Given the description of an element on the screen output the (x, y) to click on. 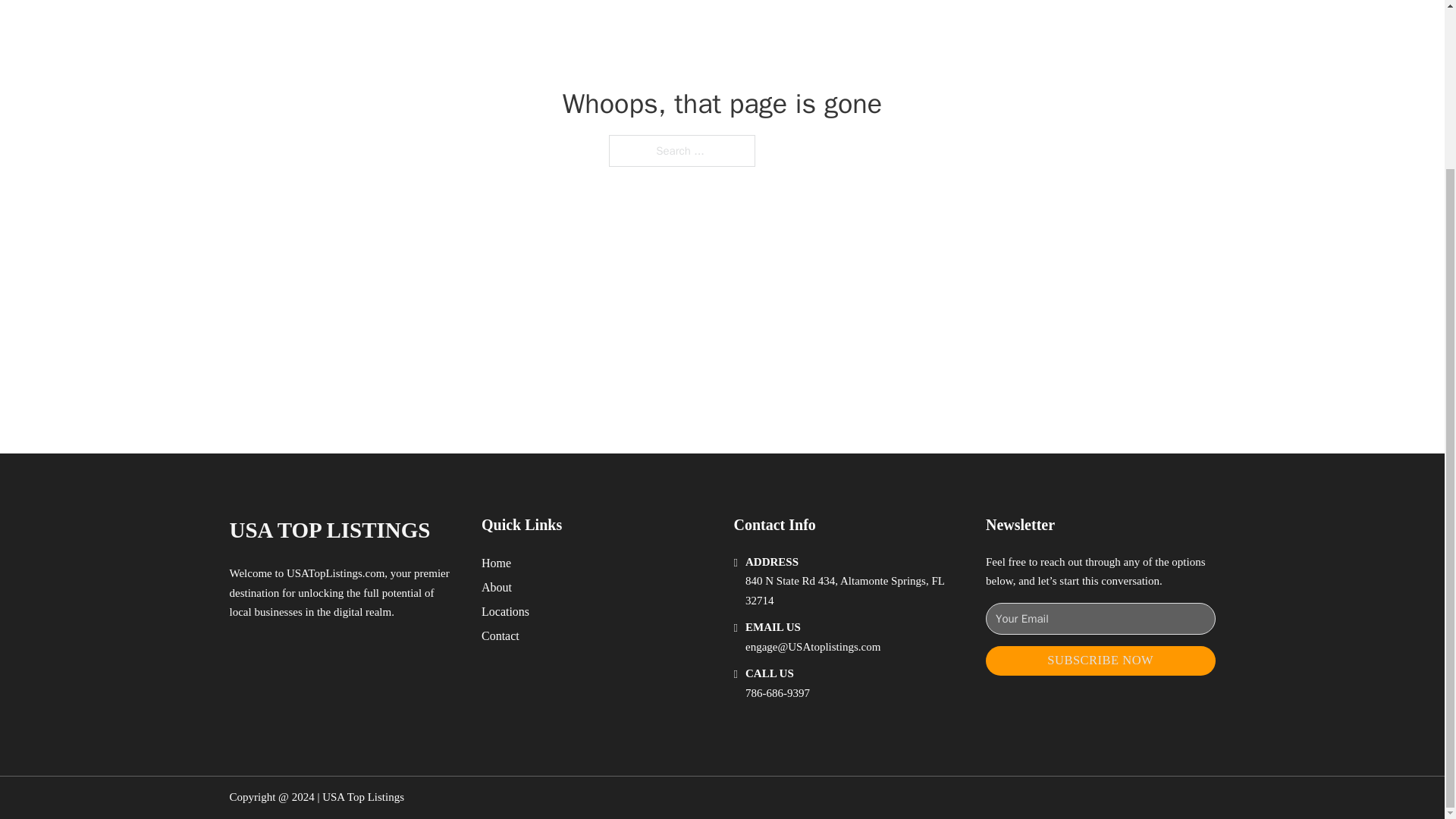
Locations (505, 611)
Home (496, 562)
786-686-9397 (777, 693)
USATopListings.com (335, 573)
Contact (500, 635)
USA TOP LISTINGS (328, 529)
SUBSCRIBE NOW (1100, 660)
About (496, 587)
